Given the description of an element on the screen output the (x, y) to click on. 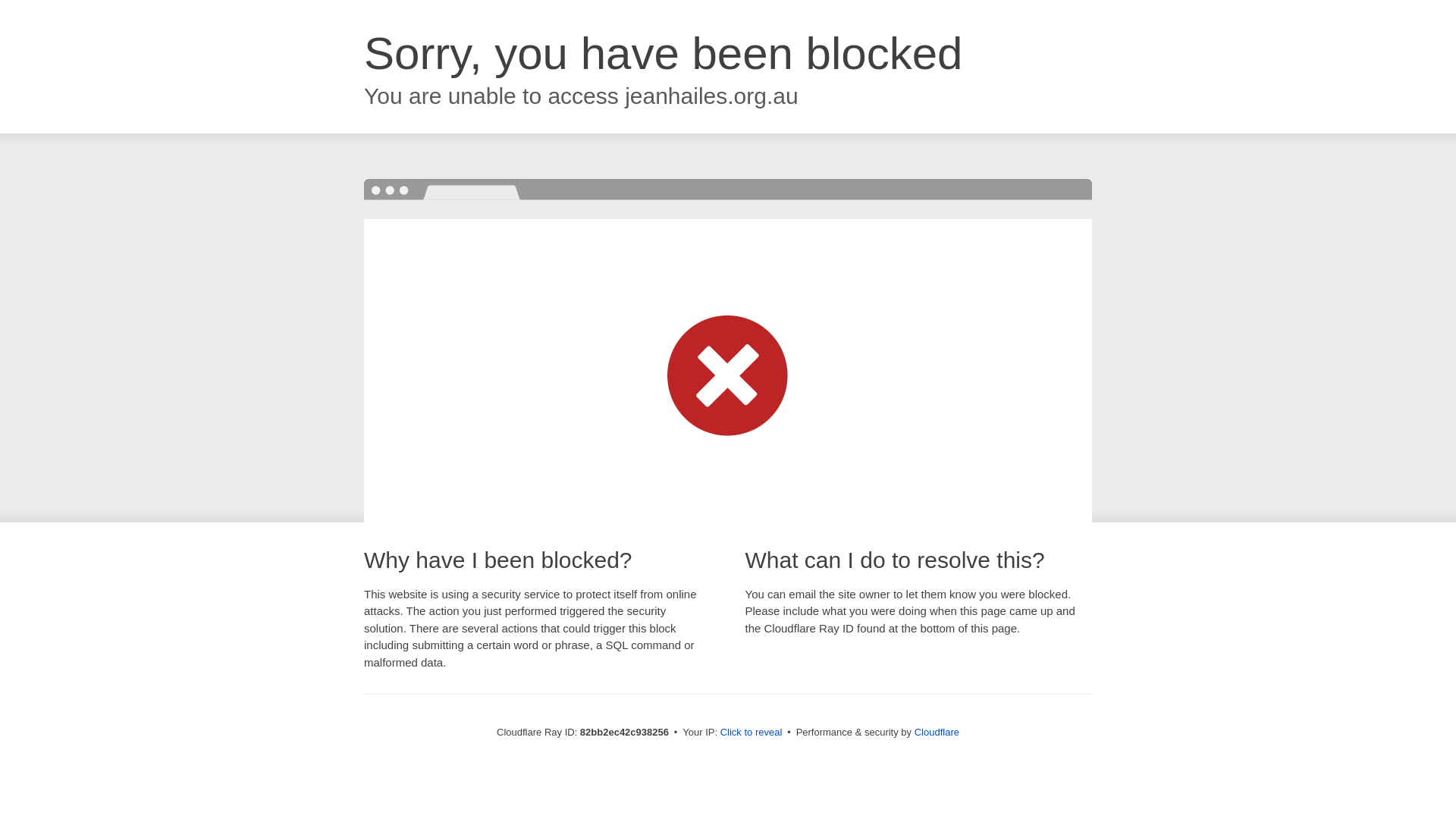
Cloudflare Element type: text (936, 731)
Click to reveal Element type: text (751, 732)
